Given the description of an element on the screen output the (x, y) to click on. 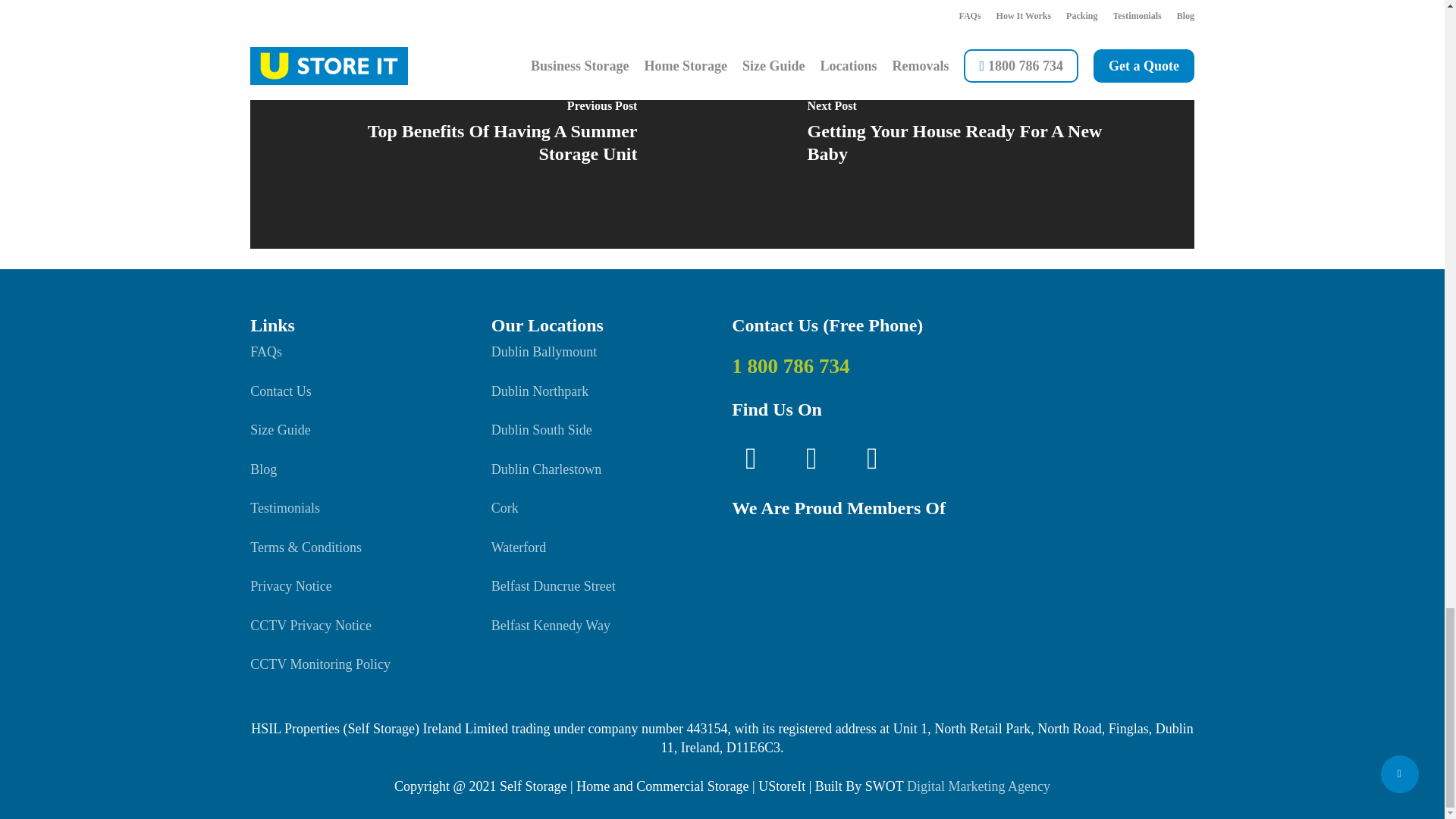
Contact Us (280, 391)
Blog (263, 468)
CCTV Privacy Notice (310, 625)
Size Guide (280, 429)
FAQs (266, 351)
Testimonials (285, 507)
Privacy Notice (290, 585)
CCTV Monitoring Policy (320, 663)
